Given the description of an element on the screen output the (x, y) to click on. 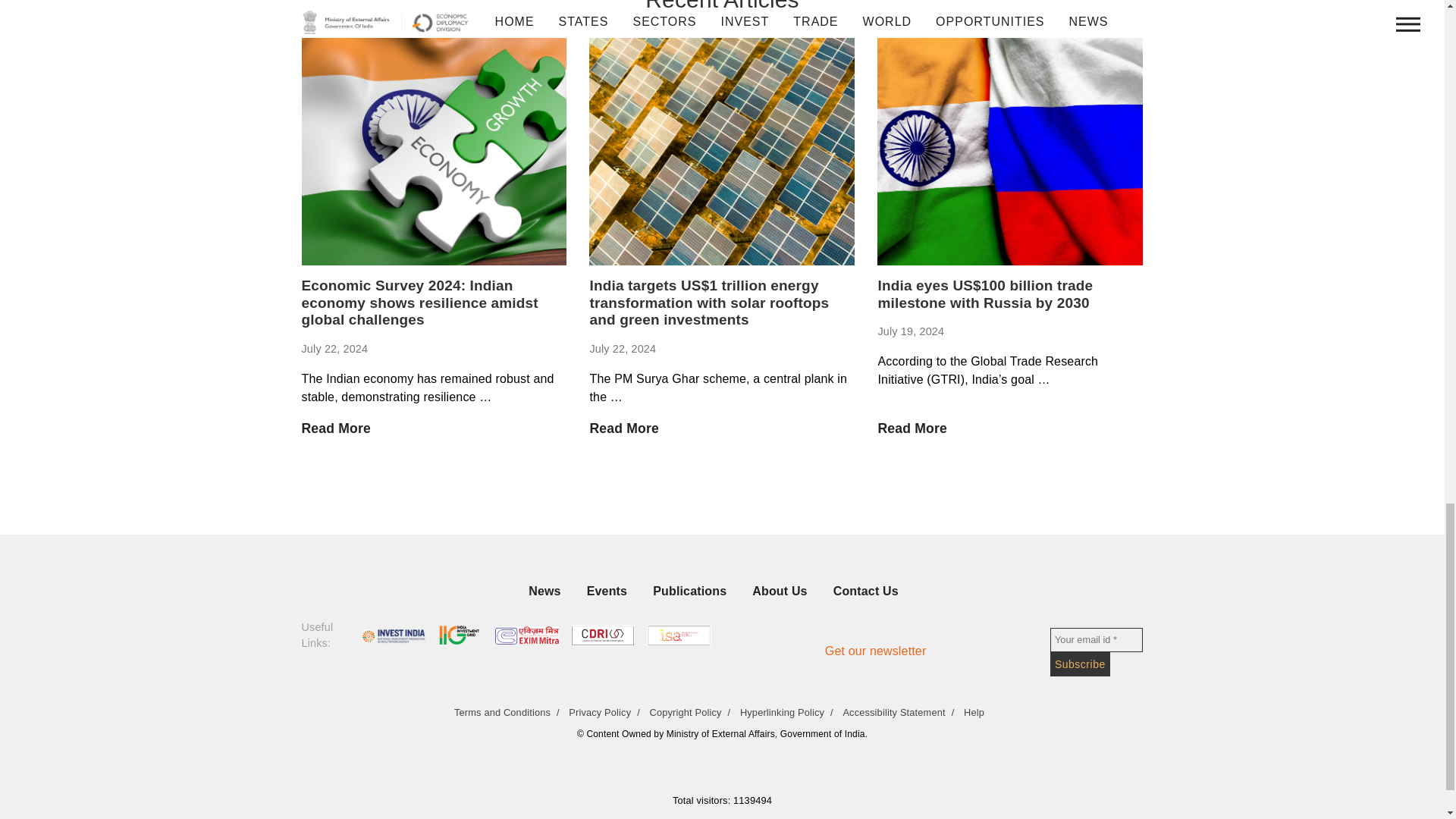
CDRI (602, 635)
Your email id (1095, 639)
ISO (678, 635)
Subscribe (1079, 663)
